Given the description of an element on the screen output the (x, y) to click on. 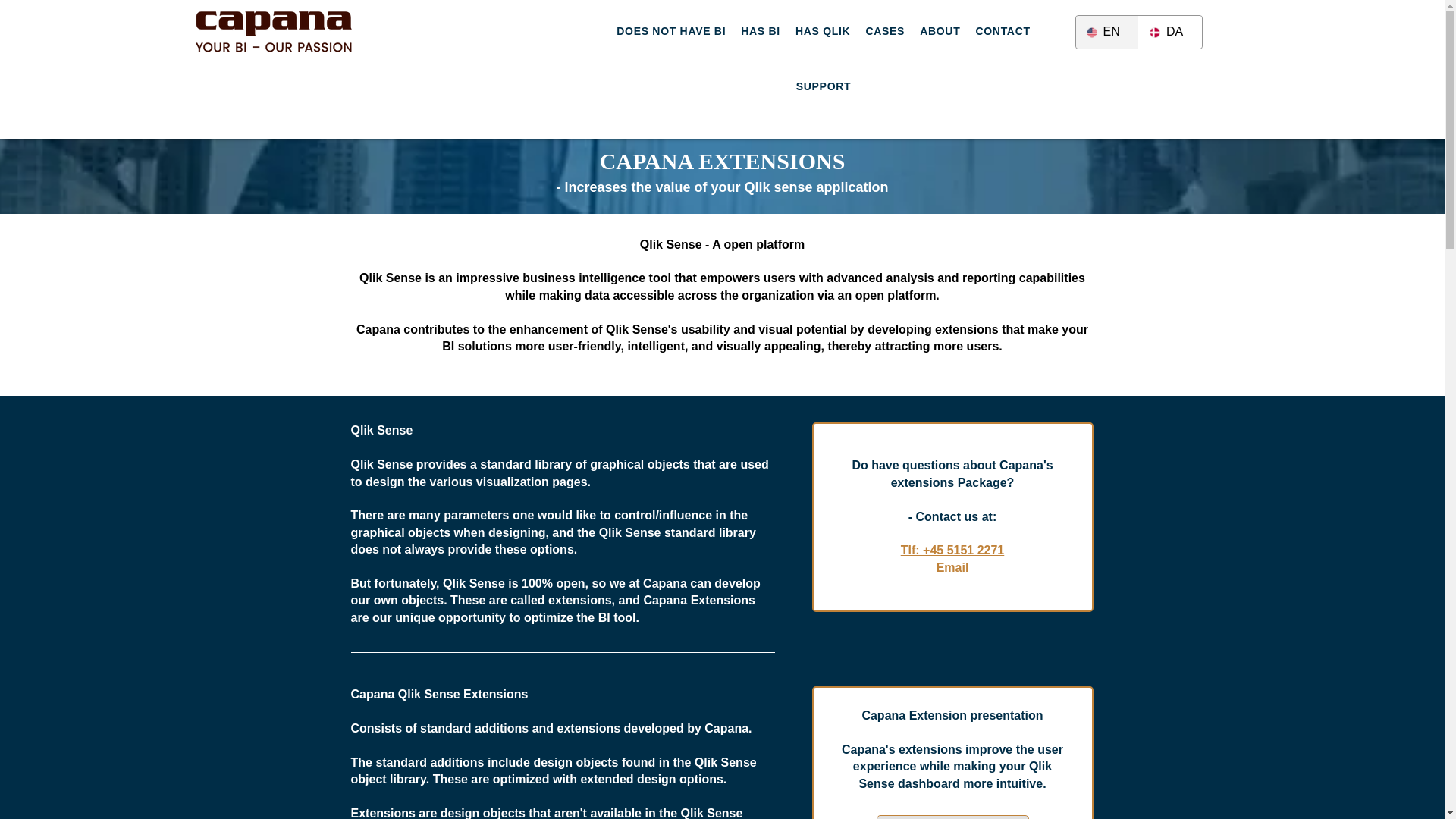
HAS QLIK (823, 31)
ABOUT (940, 31)
HAS BI (760, 31)
DOES NOT HAVE BI (670, 31)
CASES (884, 31)
